Given the description of an element on the screen output the (x, y) to click on. 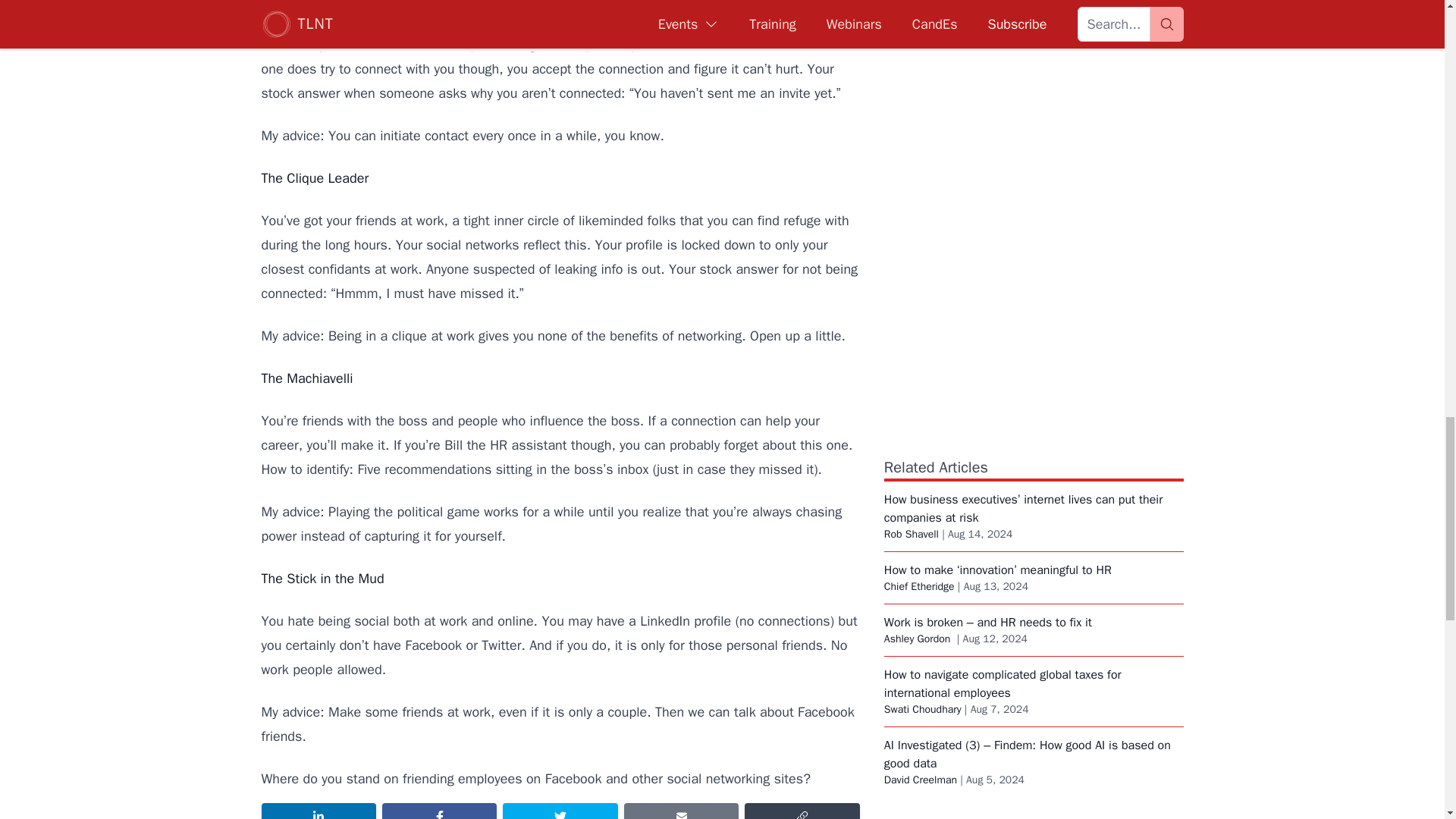
Chief Etheridge (919, 585)
3rd party ad content (1033, 12)
Ashley Gordon  (918, 638)
David Creelman (919, 779)
Swati Choudhary (921, 708)
Rob Shavell (911, 533)
